Given the description of an element on the screen output the (x, y) to click on. 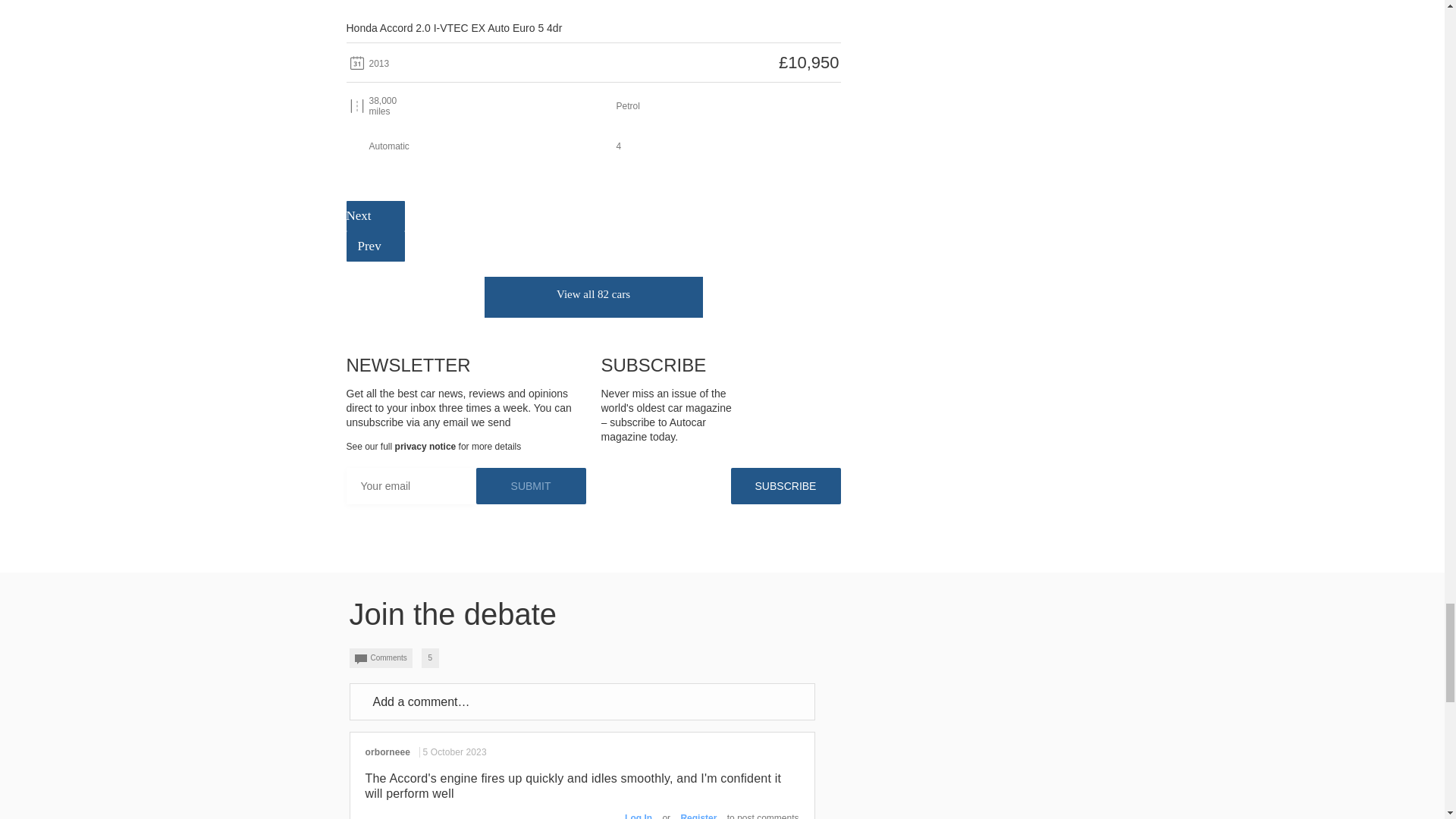
Submit (531, 485)
